Given the description of an element on the screen output the (x, y) to click on. 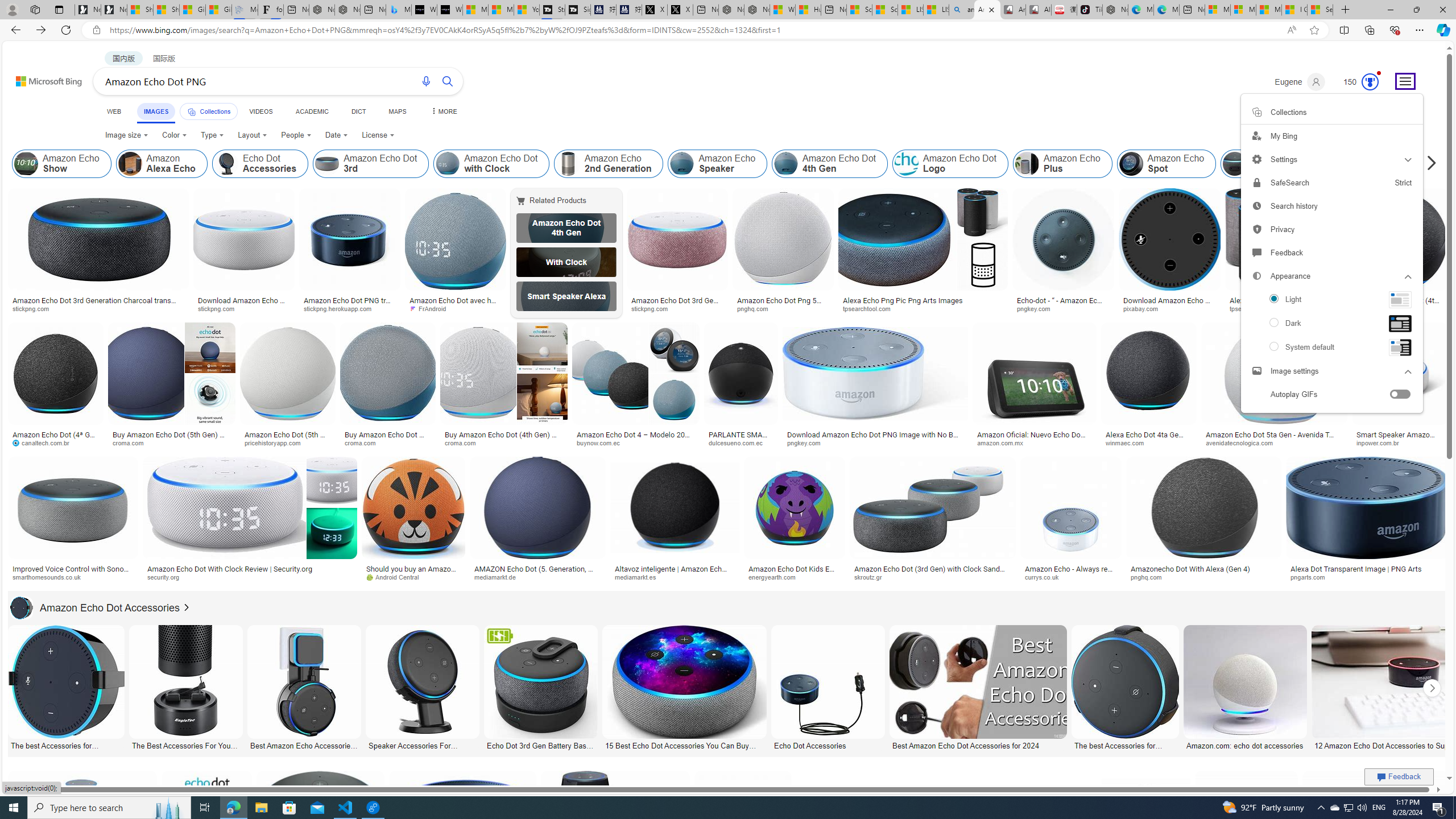
pricehistoryapp.com (287, 442)
Amazon Echo Plus (1062, 163)
Amazon Echo Show (61, 163)
smarthomesounds.co.uk (50, 576)
pixabay.com (1168, 308)
